Given the description of an element on the screen output the (x, y) to click on. 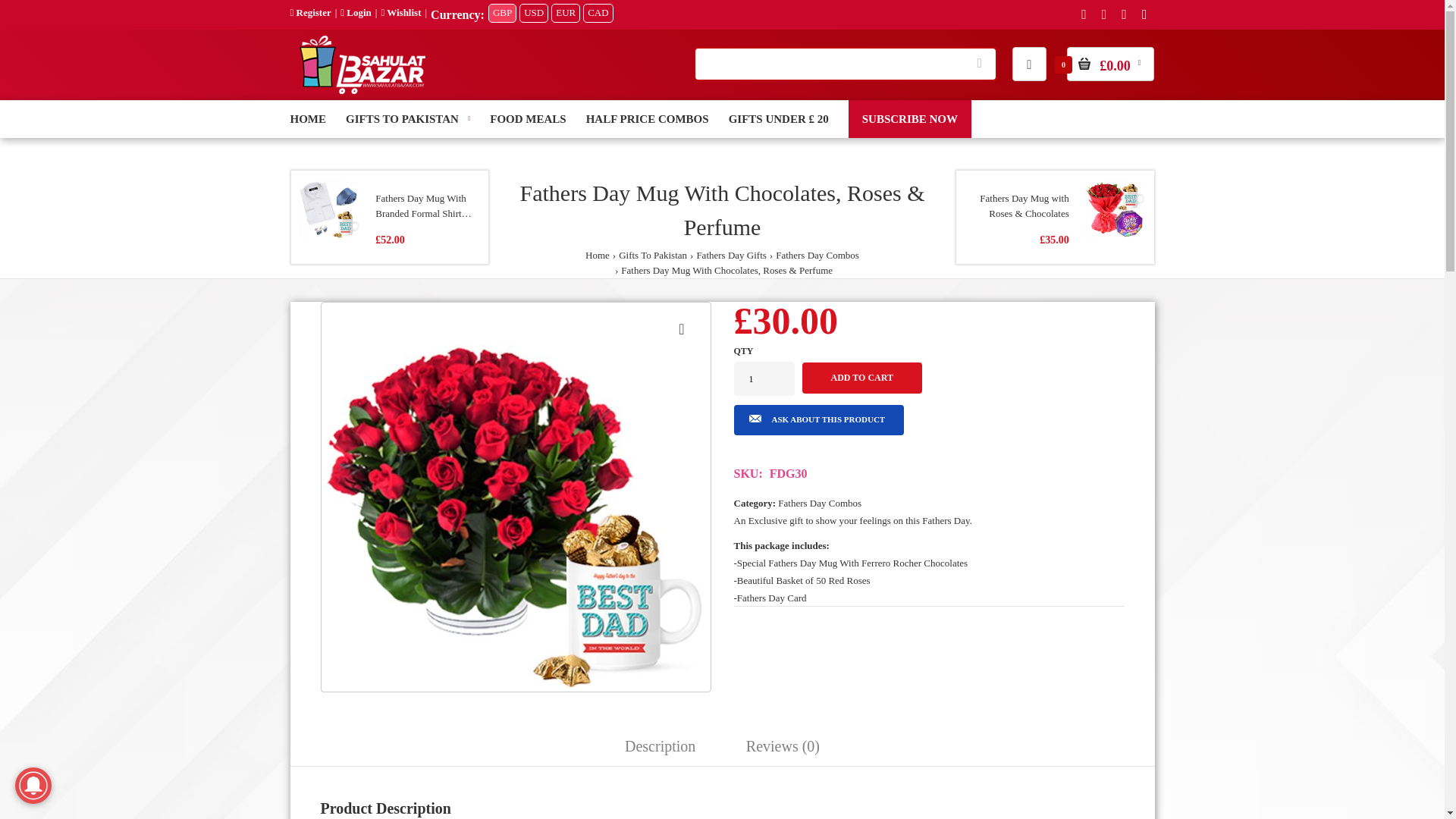
Qty (763, 378)
GIFTS TO PAKISTAN (408, 118)
Register (309, 12)
GBP (501, 13)
Login (355, 12)
1 (763, 378)
CAD (597, 13)
Wishlist (400, 12)
USD (533, 13)
EUR (565, 13)
HOME (307, 118)
Sahulat Bazar -  (362, 91)
